Given the description of an element on the screen output the (x, y) to click on. 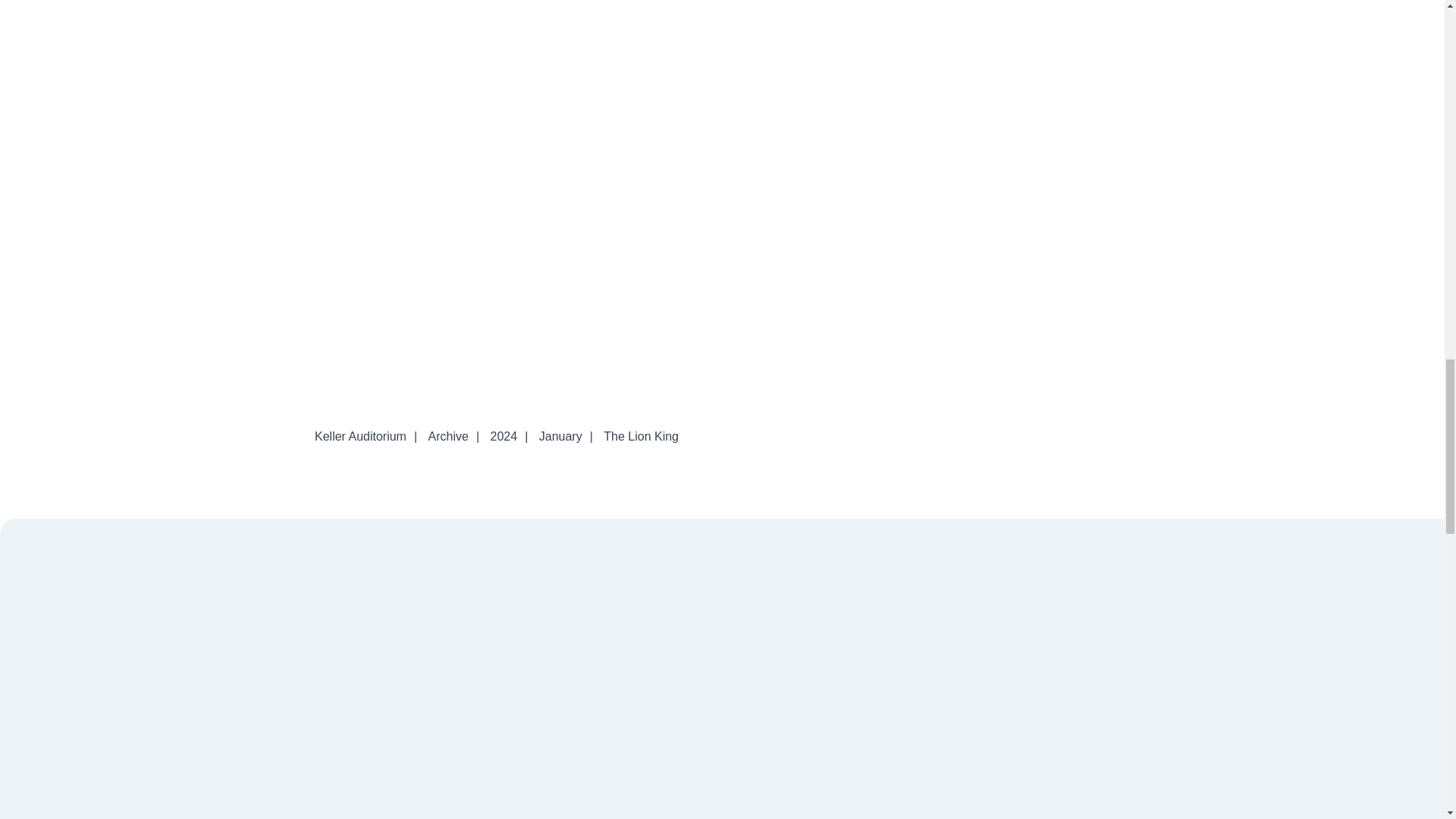
2024 (504, 436)
Keller Auditorium (360, 436)
January (560, 436)
Archive (448, 436)
